Given the description of an element on the screen output the (x, y) to click on. 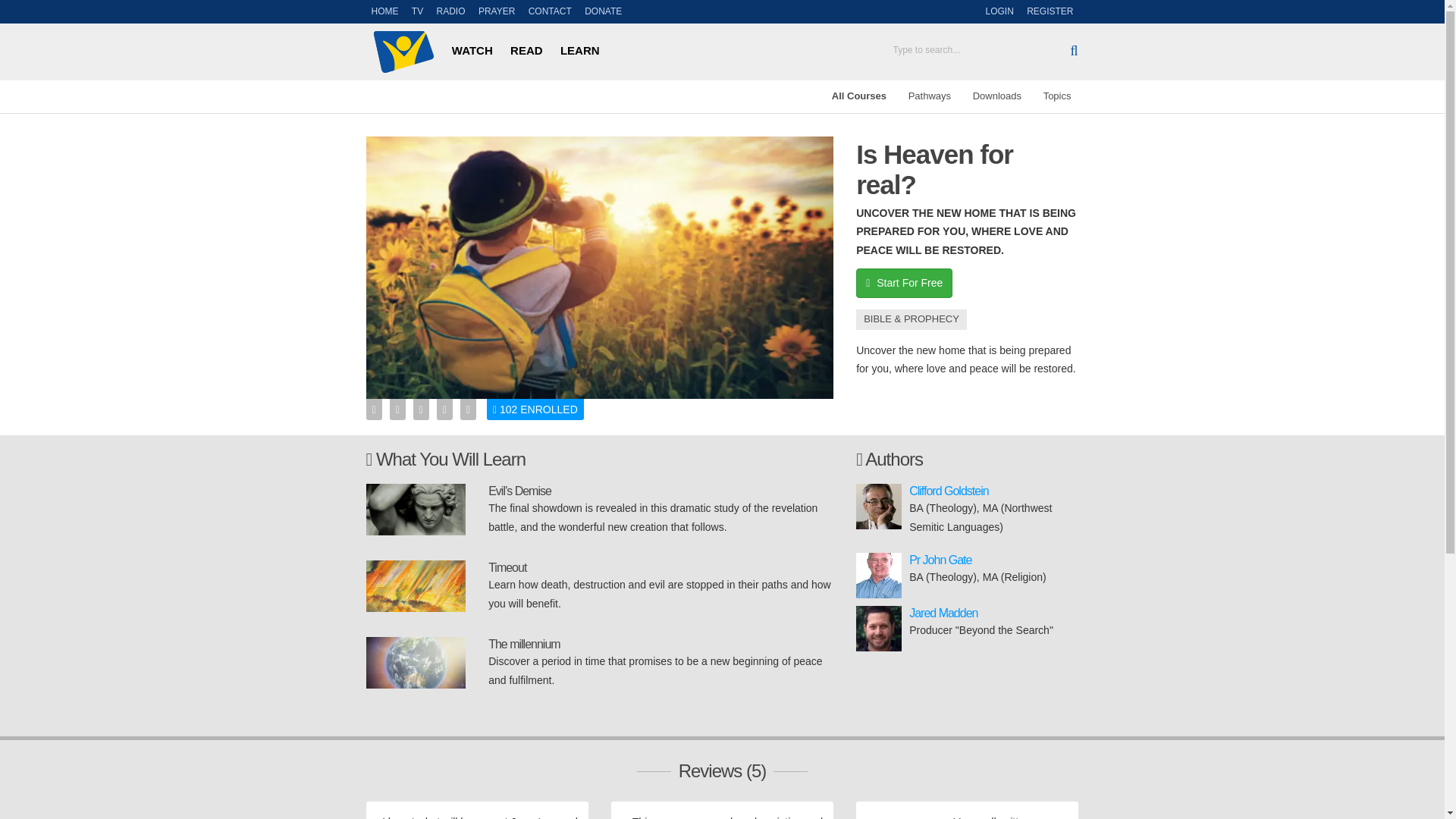
Pr John Gate (939, 559)
WATCH (472, 50)
PRAYER (496, 11)
REGISTER (1050, 11)
Pathways (929, 96)
HopeChannel (403, 51)
CONTACT (549, 11)
HOME (384, 11)
Downloads (997, 96)
LOGIN (998, 11)
Start For Free (904, 283)
Jared Madden (942, 612)
All Courses (858, 96)
TV (417, 11)
READ (526, 50)
